Given the description of an element on the screen output the (x, y) to click on. 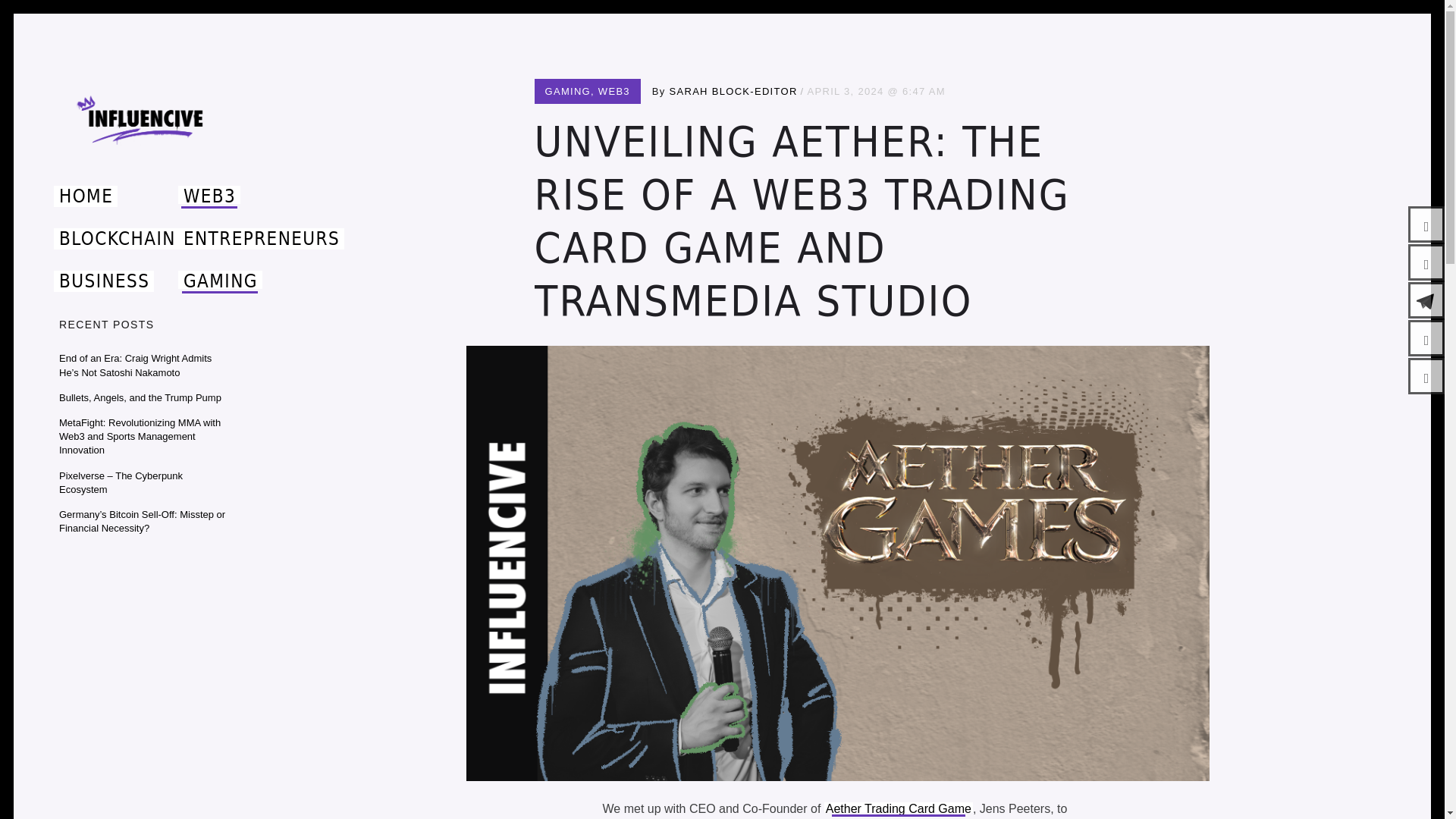
APRIL 3, 20246:47 AM (876, 91)
BUSINESS (103, 281)
INFLUENCIVE (142, 178)
Bullets, Angels, and the Trump Pump (140, 397)
GAMING (219, 281)
Aether Trading Card Game (898, 808)
SARAH BLOCK-EDITOR (733, 91)
ENTREPRENEURS (260, 238)
WEB3 (614, 91)
HOME (85, 196)
GAMING (567, 91)
BLOCKCHAIN (116, 238)
WEB3 (208, 196)
